Given the description of an element on the screen output the (x, y) to click on. 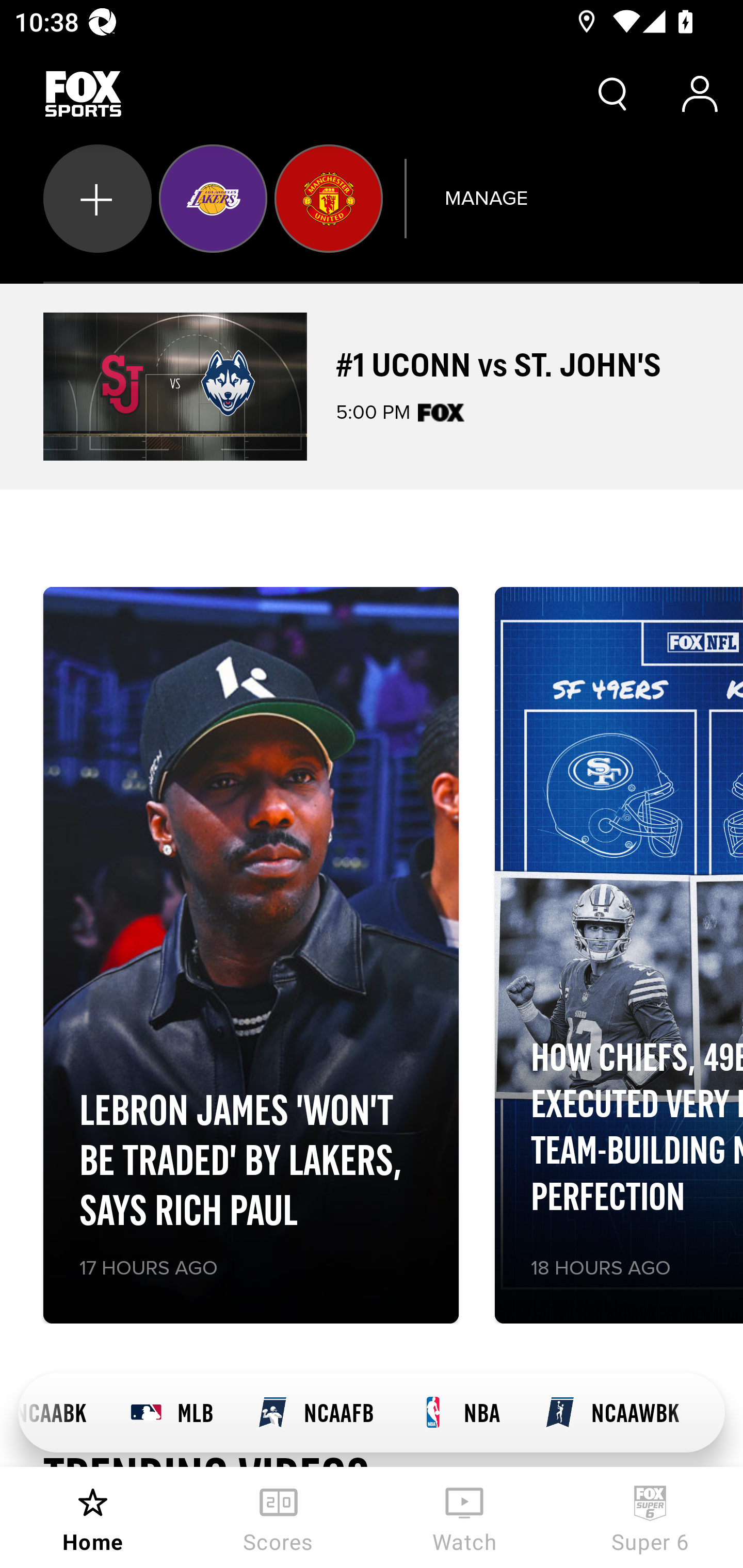
Search (612, 93)
Account (699, 93)
MANAGE (485, 198)
#1 UCONN vs ST. JOHN'S 5:00 PM (371, 386)
NCAABK (62, 1412)
MLB (171, 1412)
NCAAFB (314, 1412)
NBA (458, 1412)
NCAAWBK (611, 1412)
Scores (278, 1517)
Watch (464, 1517)
Super 6 (650, 1517)
